Given the description of an element on the screen output the (x, y) to click on. 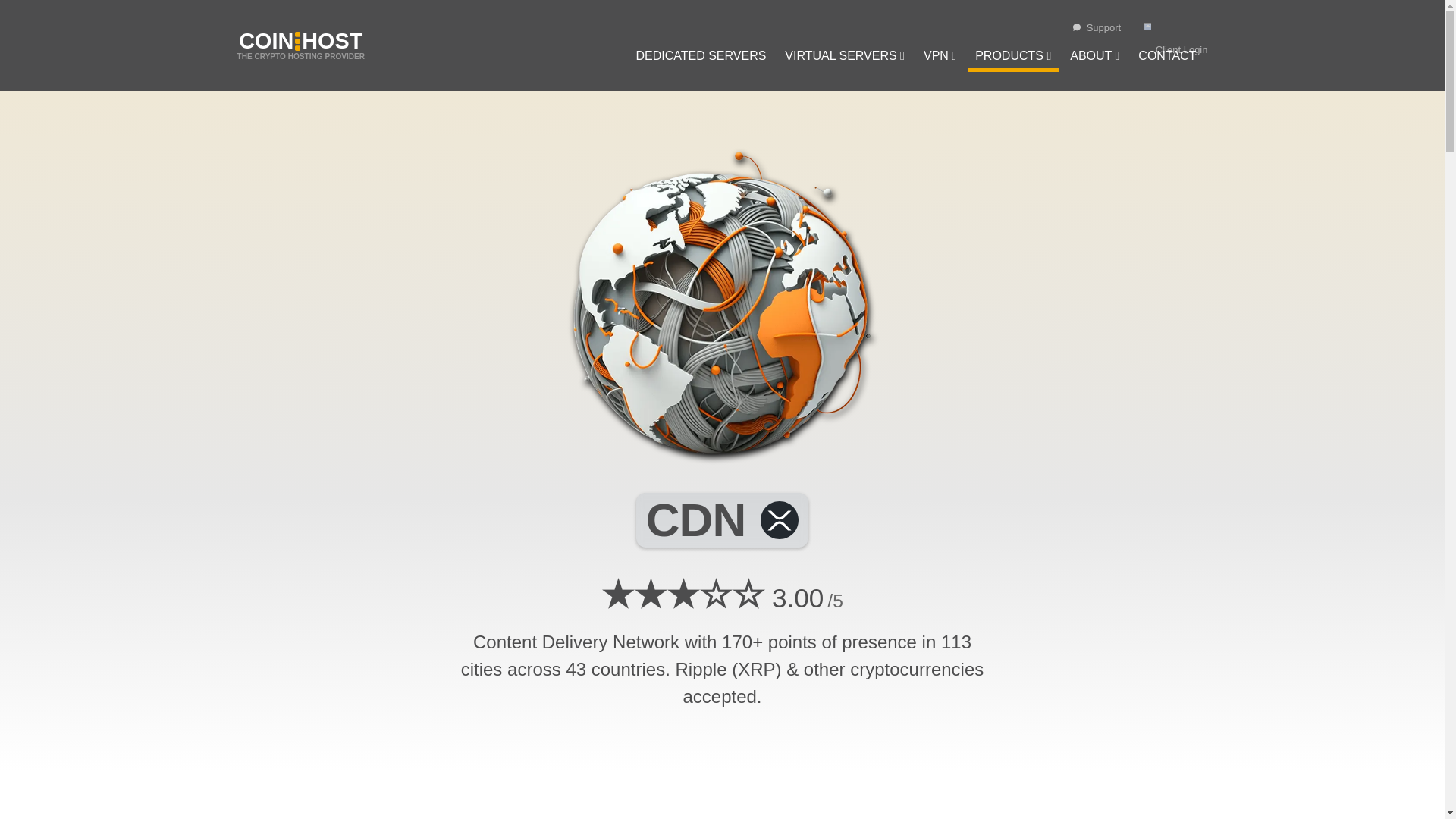
CONTACT (1167, 58)
CDN - Ripple accepted (721, 303)
Average rating: 3 out of 5 (682, 594)
Client Login (1174, 38)
DEDICATED SERVERS (700, 58)
